Given the description of an element on the screen output the (x, y) to click on. 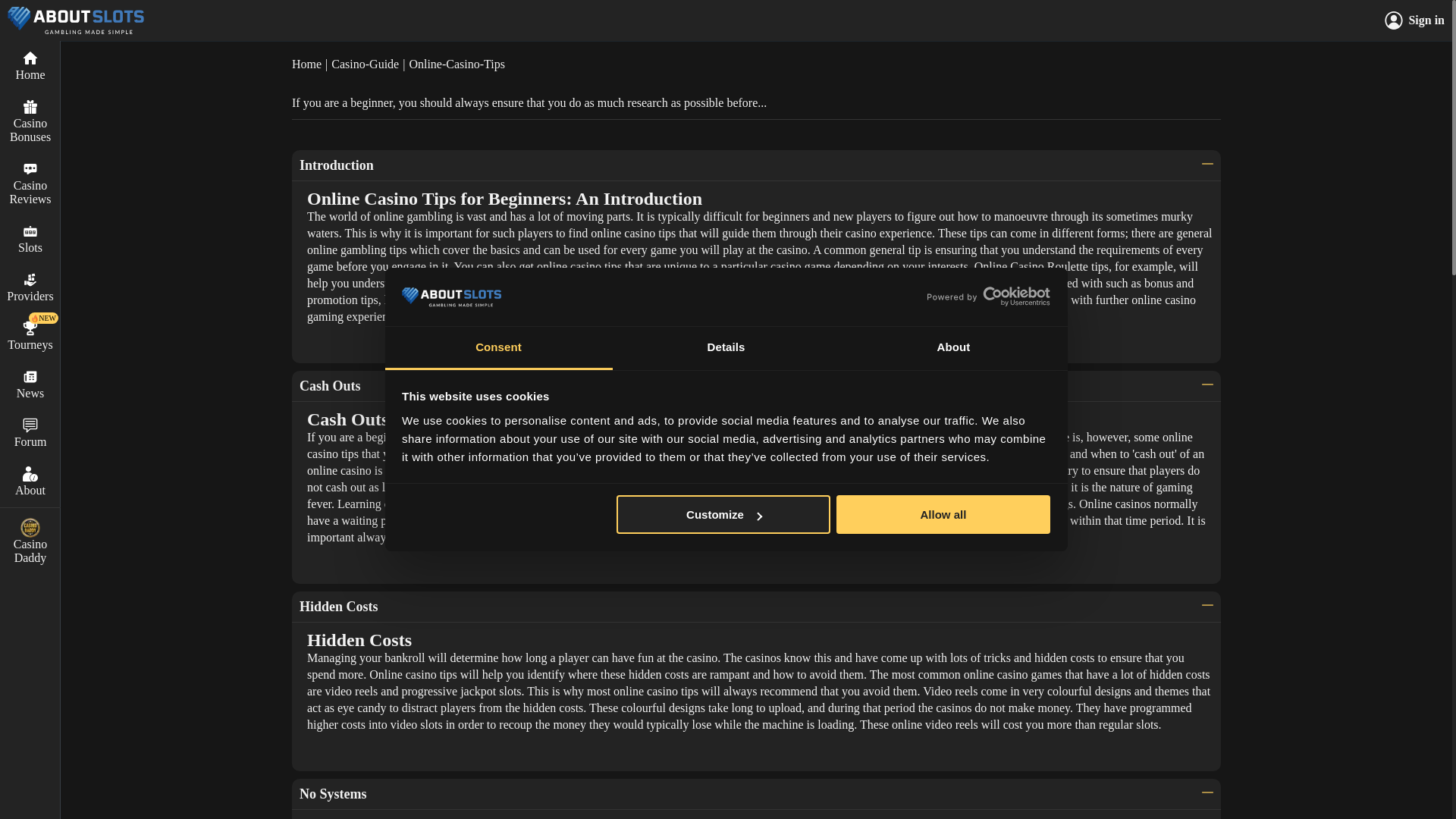
Consent (498, 348)
About (953, 348)
Details (726, 348)
